Given the description of an element on the screen output the (x, y) to click on. 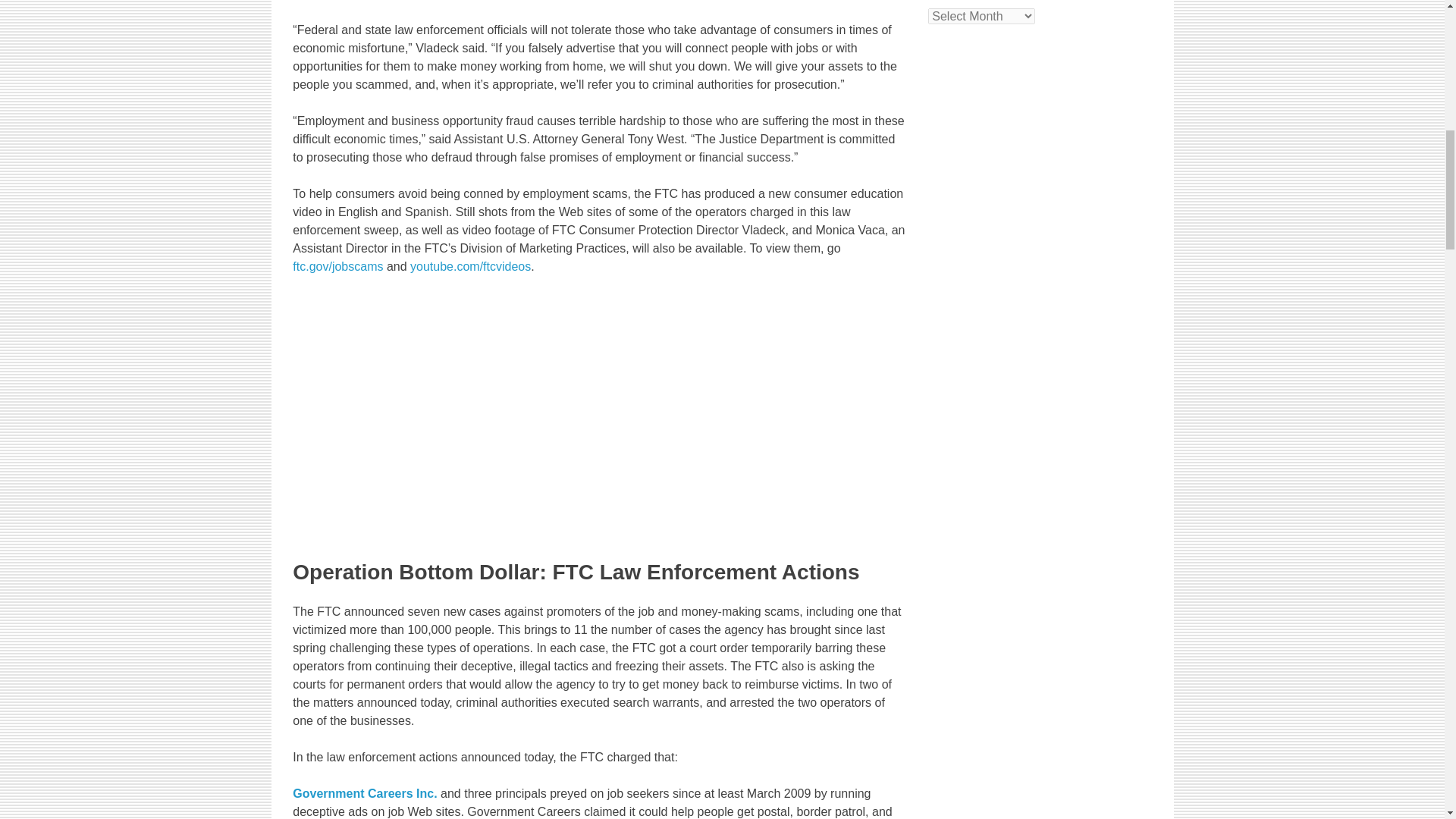
Government Careers Inc. (364, 793)
Job Scams (481, 529)
